Given the description of an element on the screen output the (x, y) to click on. 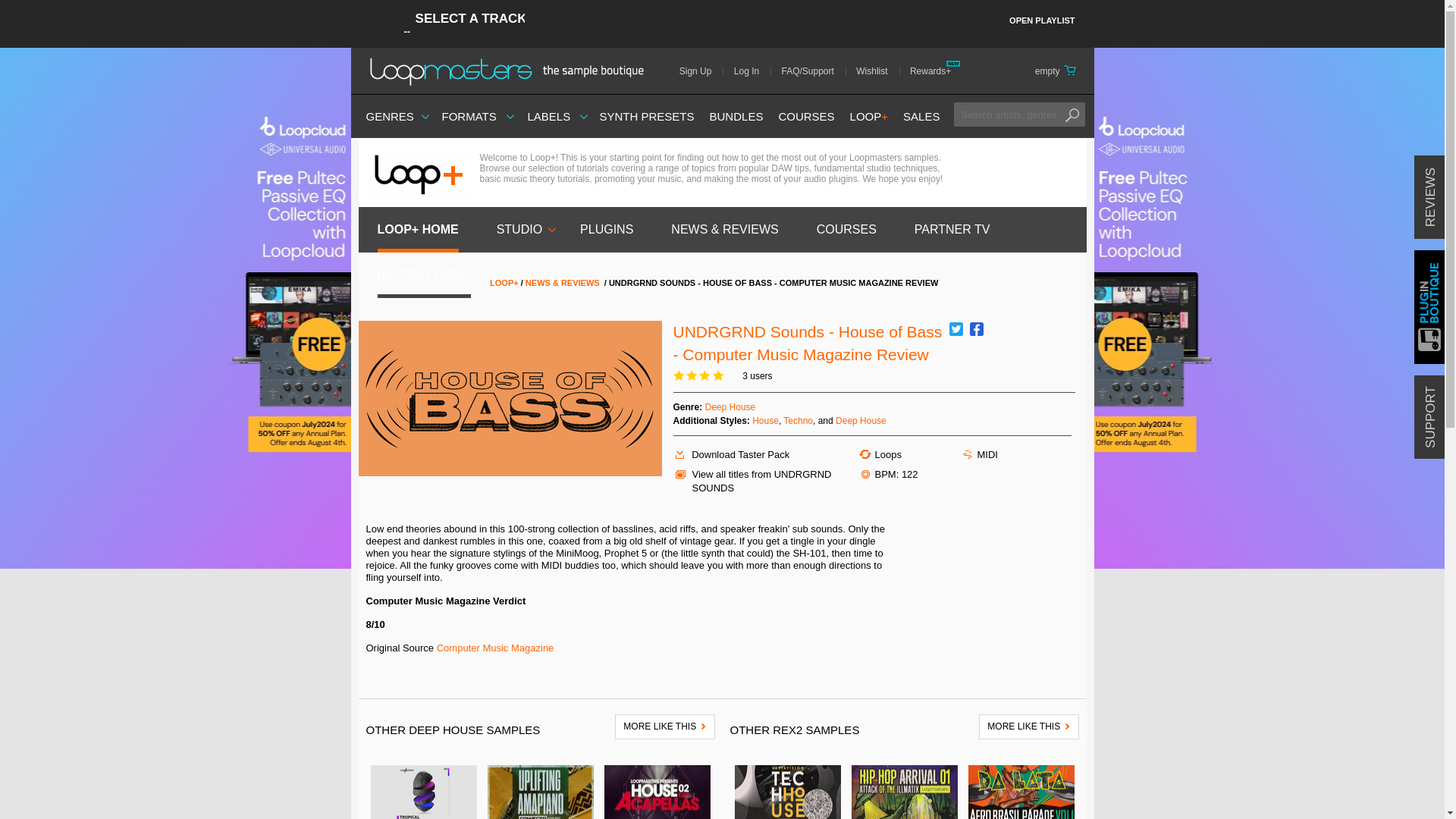
Log In (752, 71)
OPEN PLAYLIST (1041, 20)
Wishlist (877, 71)
Show all genres (389, 115)
Sign Up (701, 71)
Sign Up (701, 71)
Wishlist (877, 71)
Support and frequently questioned answers (812, 71)
GENRES (389, 115)
Loopmasters - the sample boutique (511, 71)
Log In (752, 71)
